Given the description of an element on the screen output the (x, y) to click on. 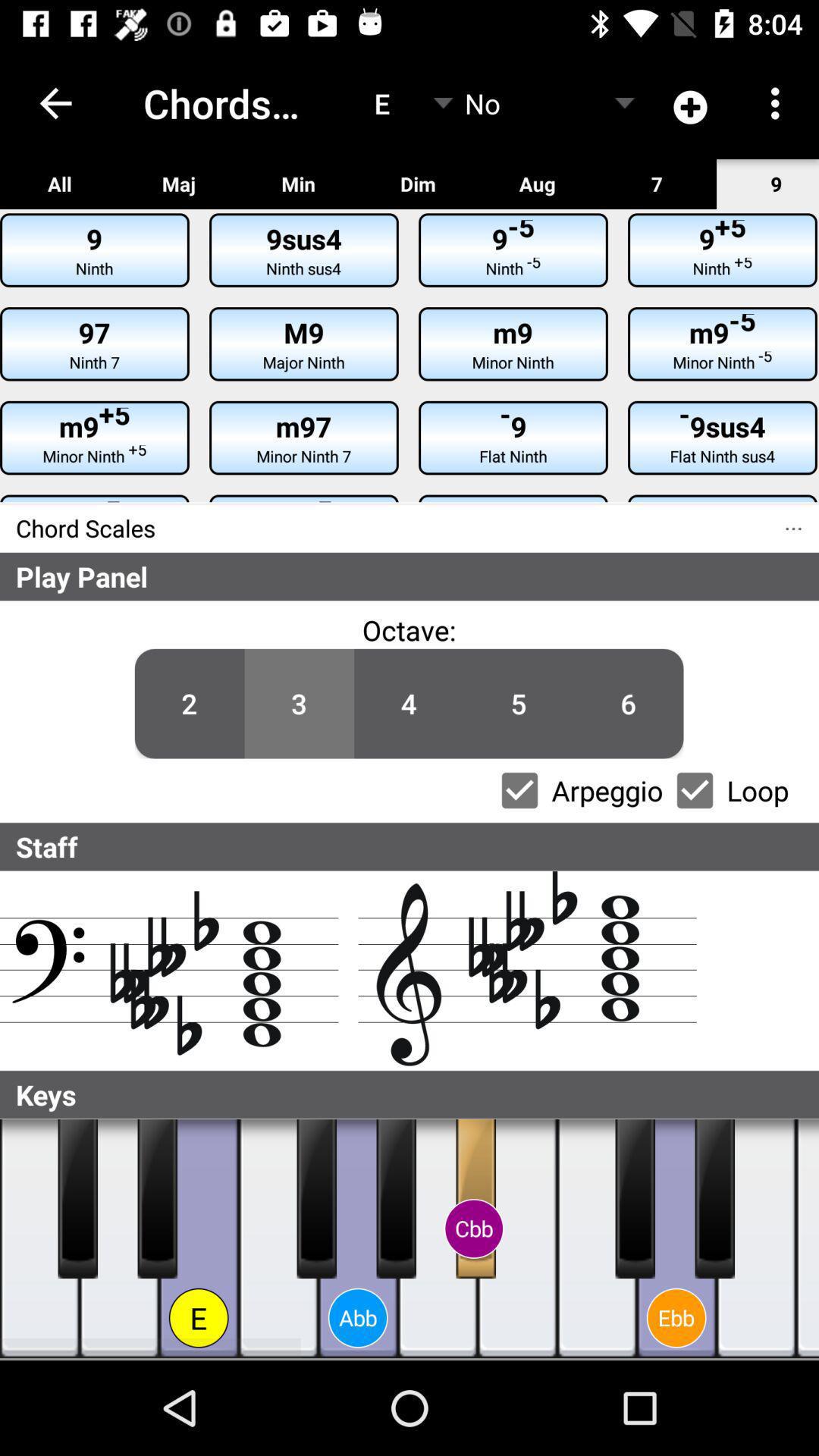
press the item to the left of loop item (628, 703)
